Given the description of an element on the screen output the (x, y) to click on. 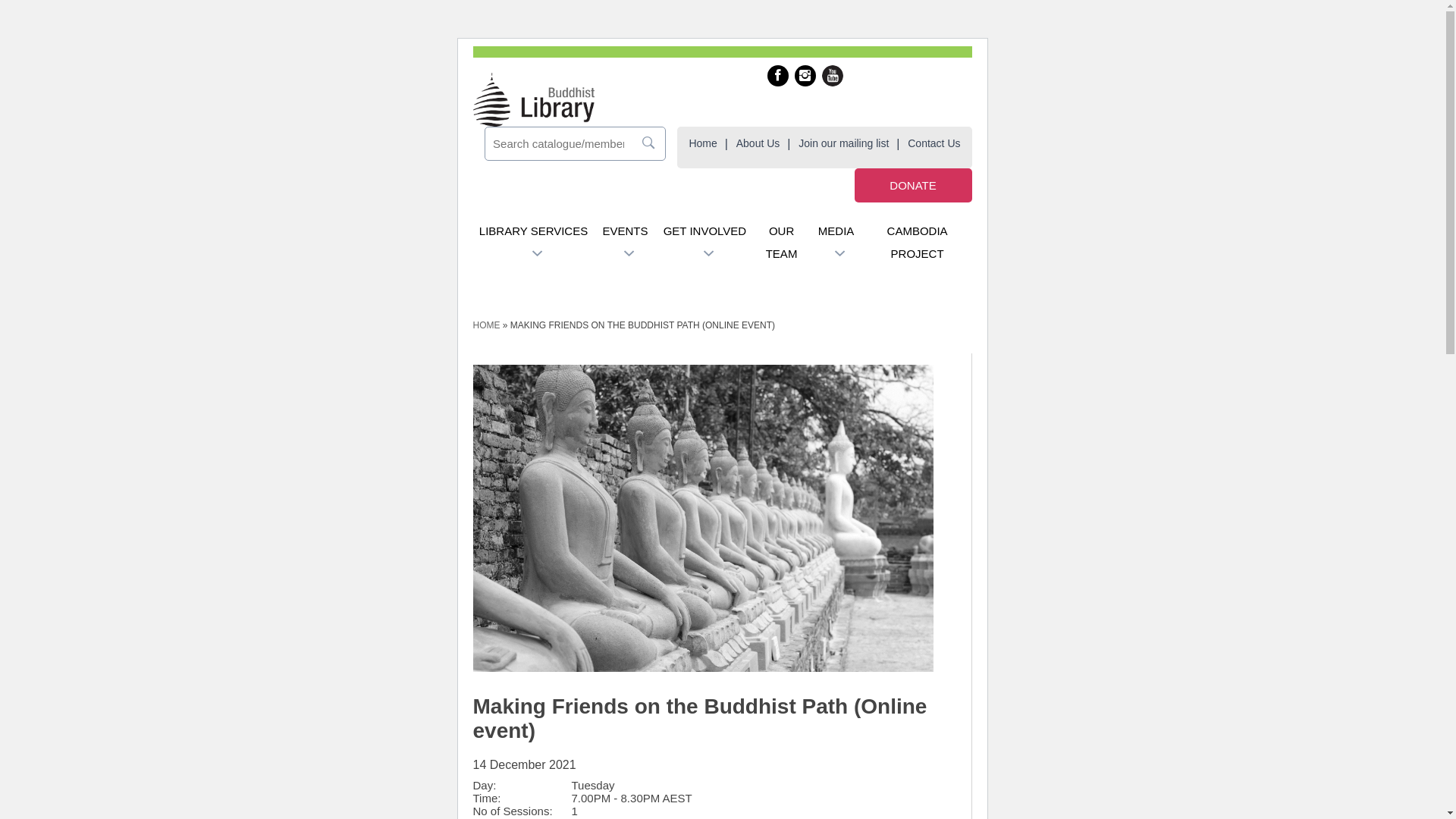
About Us Element type: text (758, 143)
CAMBODIA PROJECT Element type: text (917, 242)
Buddhist Library and Meditation Centre Element type: hover (533, 99)
MEDIA Element type: text (836, 230)
Search Element type: hover (563, 143)
GET INVOLVED Element type: text (704, 230)
Join our mailing list Element type: text (843, 143)
DONATE Element type: text (912, 185)
LIBRARY SERVICES Element type: text (533, 230)
Contact Us Element type: text (933, 143)
HOME Element type: text (486, 325)
Home Element type: text (702, 143)
OUR TEAM Element type: text (781, 242)
EVENTS Element type: text (624, 230)
